Given the description of an element on the screen output the (x, y) to click on. 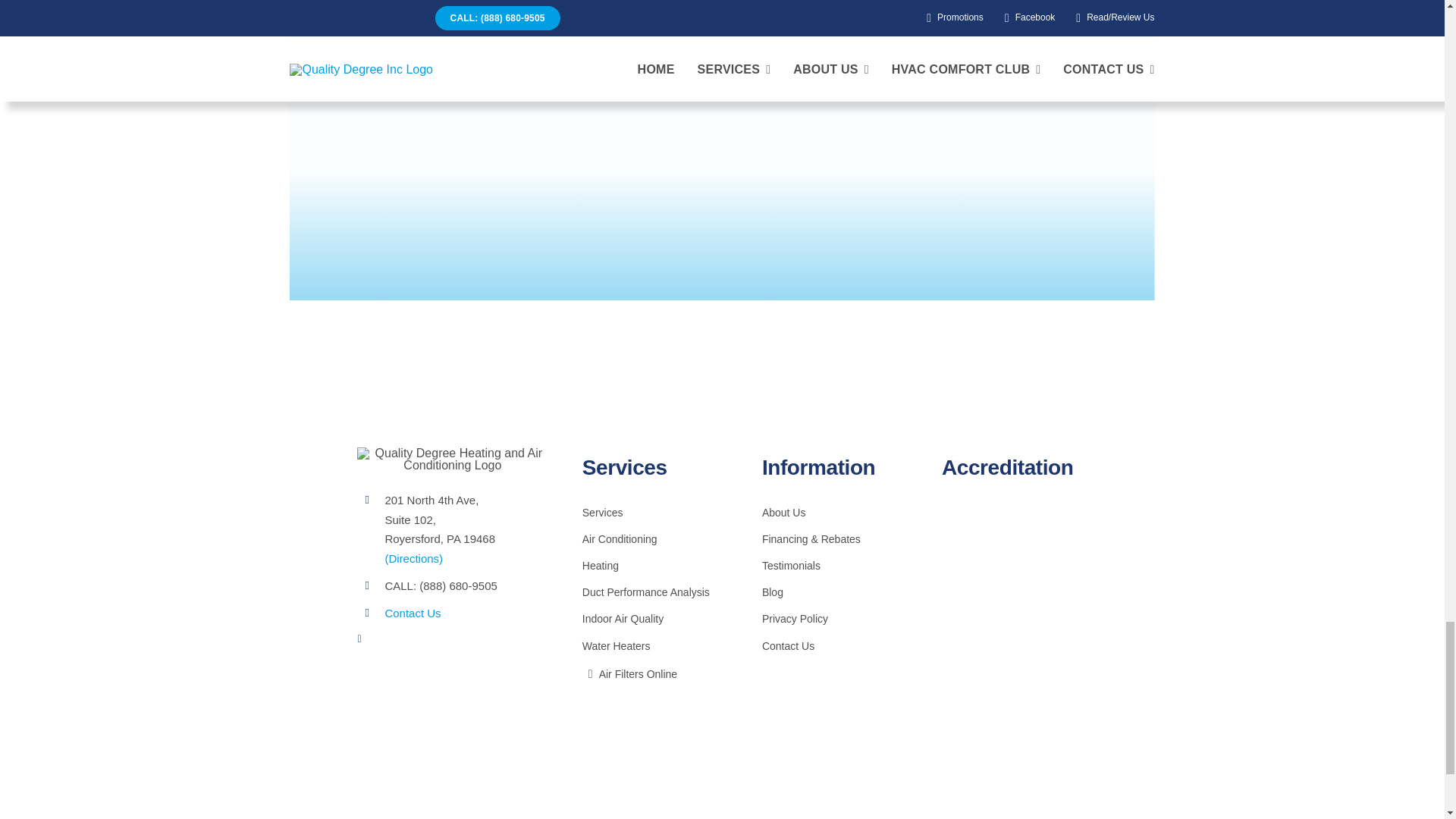
Aeroseal-Color (1014, 682)
lennox-premier-dealer (1014, 628)
Quality Degree Heating and Air Conditioning Logo (451, 459)
GoogleReviews (1014, 757)
centurion-award (1013, 551)
